Given the description of an element on the screen output the (x, y) to click on. 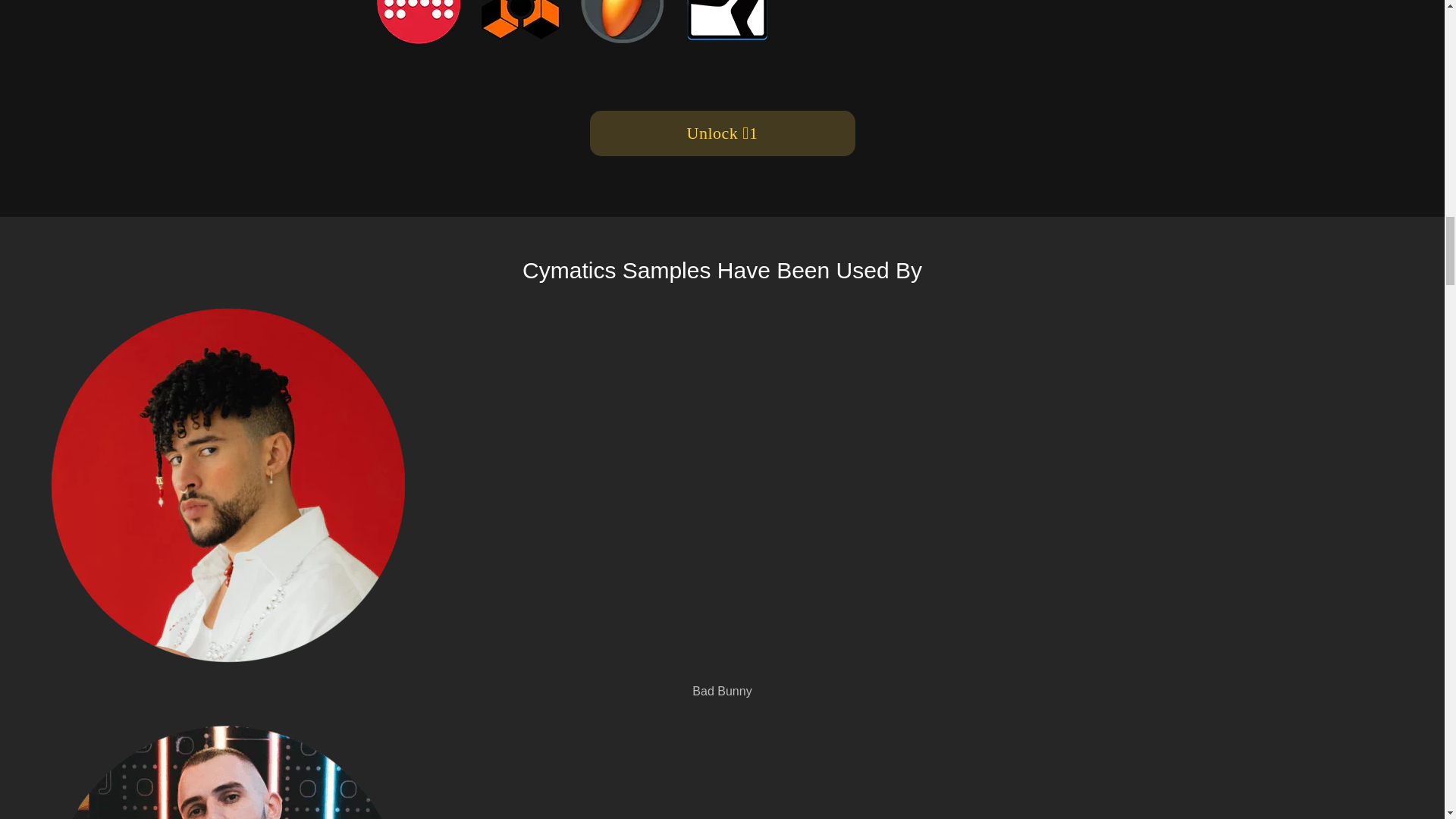
Unlock 1 (722, 133)
